Given the description of an element on the screen output the (x, y) to click on. 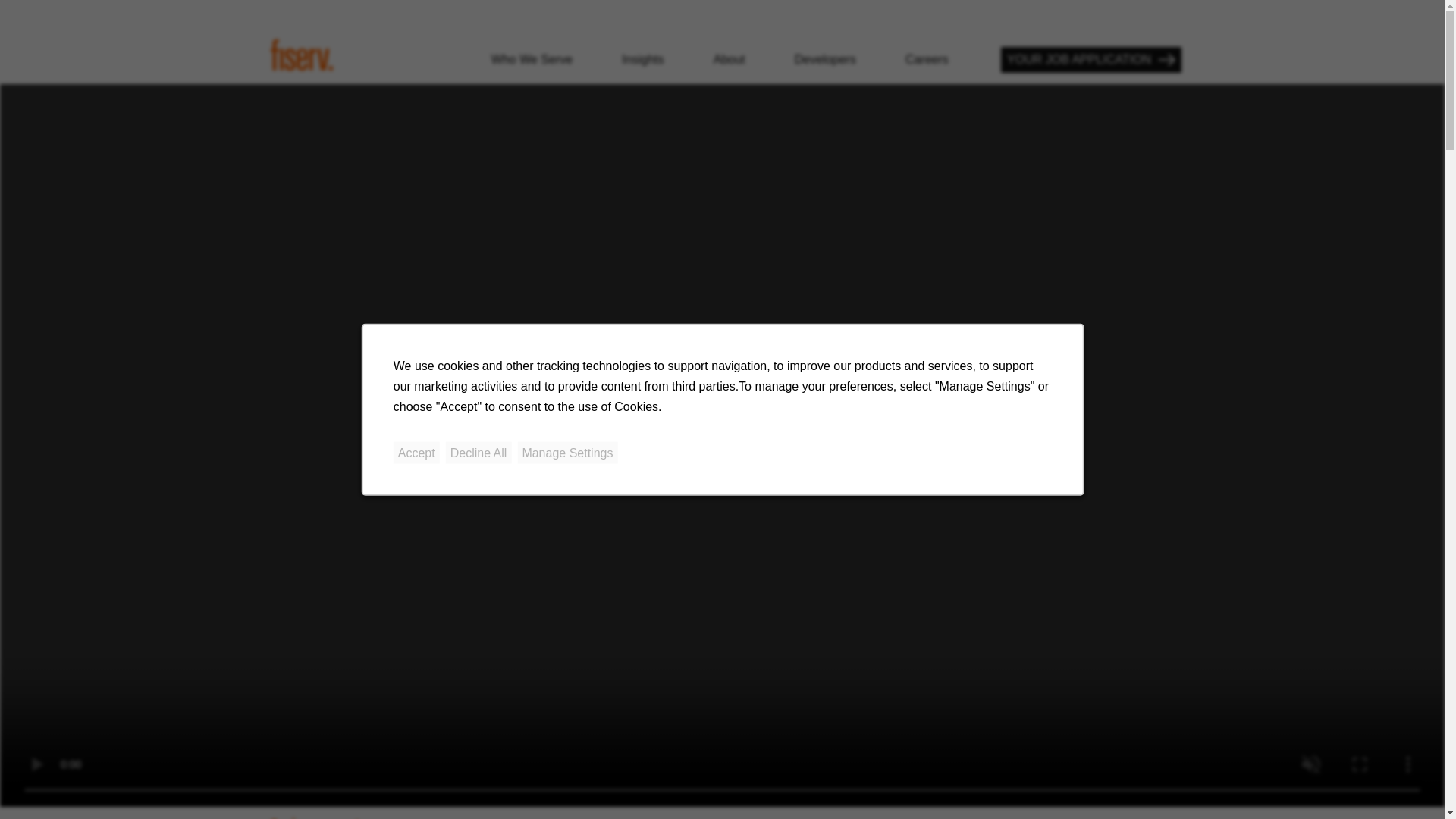
Fiserv (301, 52)
Go to Developers page (825, 59)
Insights (642, 59)
Go to Who We Serve page (532, 59)
Go to Careers page (927, 59)
YOUR JOB APPLICATION (1090, 59)
About (729, 59)
Go to Your job application page (1090, 59)
Careers (927, 59)
Go to Insights page (642, 59)
